Given the description of an element on the screen output the (x, y) to click on. 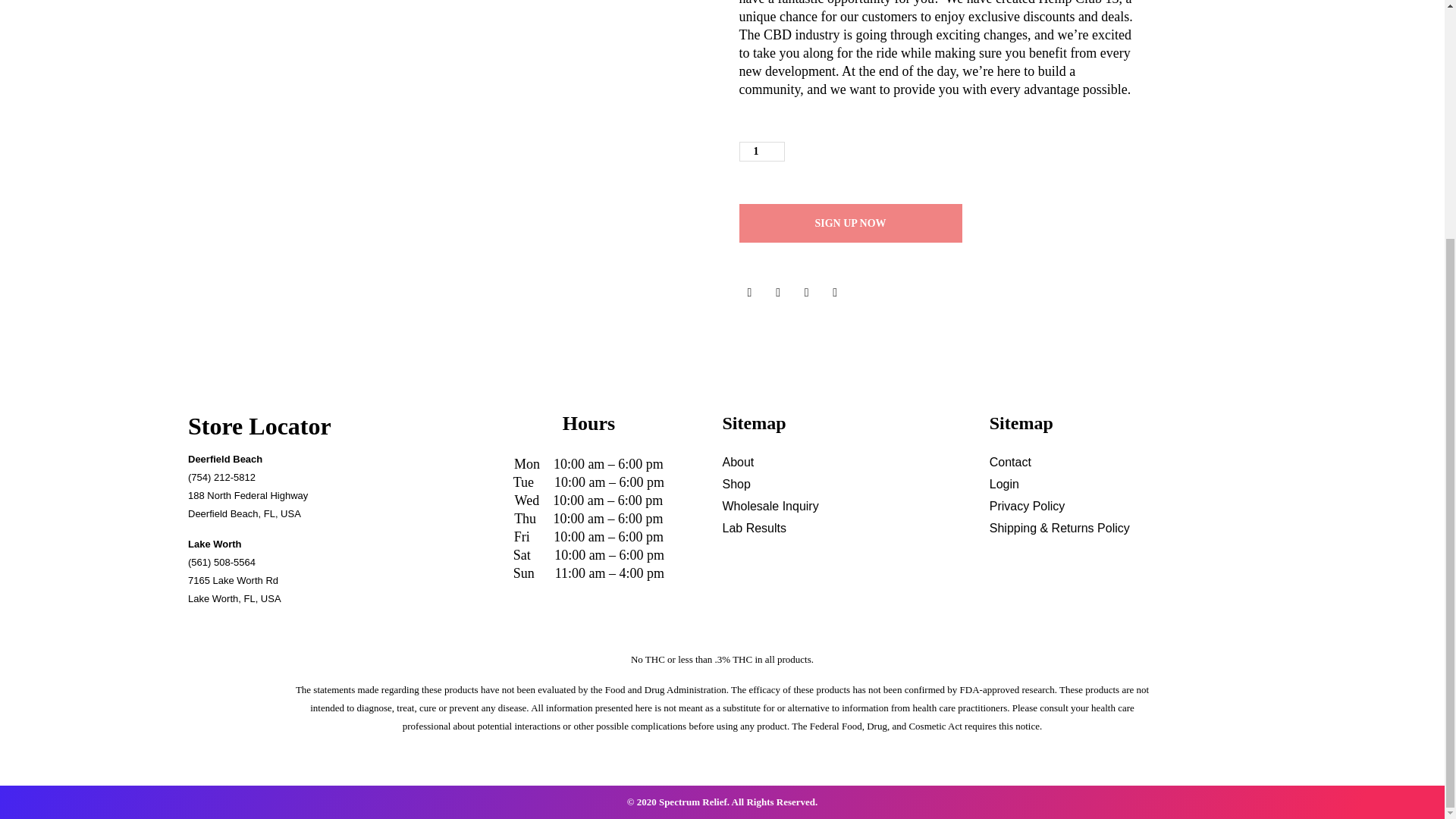
1 (761, 151)
SIGN UP NOW (849, 222)
